Given the description of an element on the screen output the (x, y) to click on. 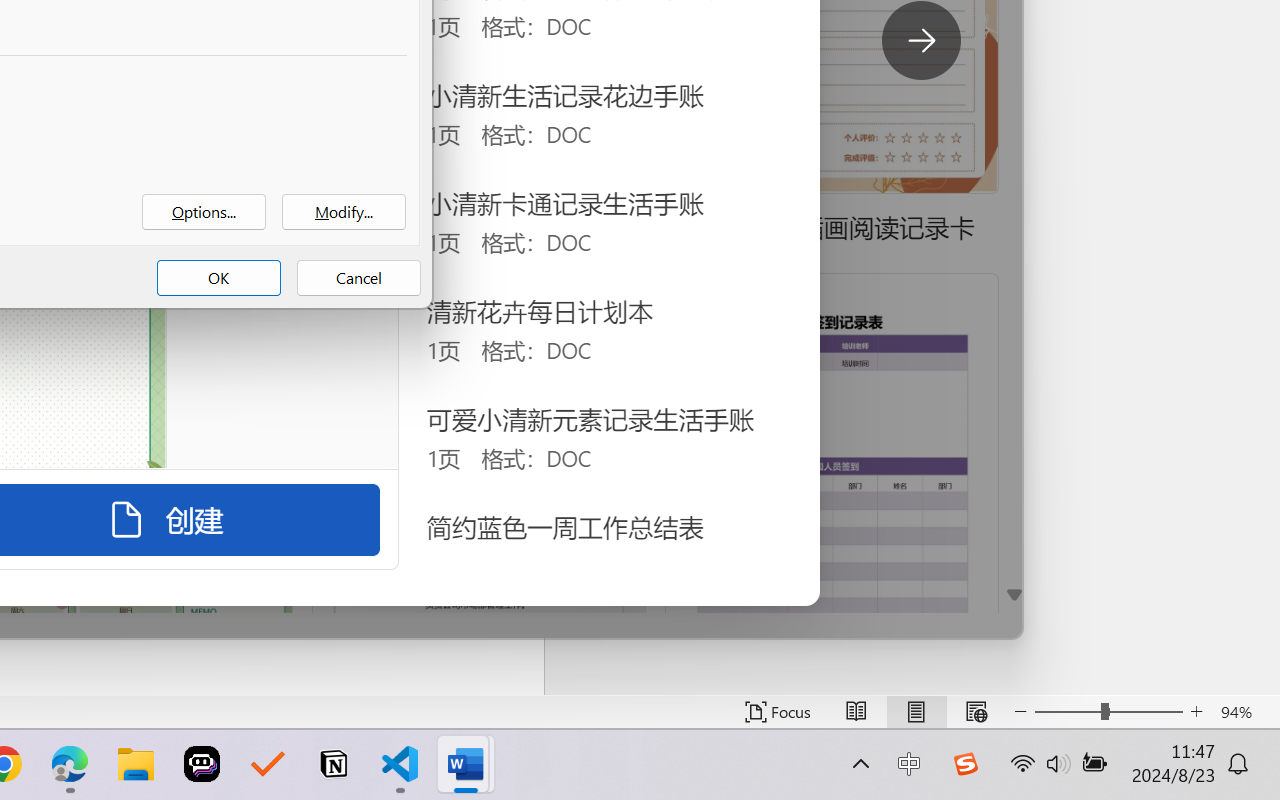
Modify... (344, 211)
